Given the description of an element on the screen output the (x, y) to click on. 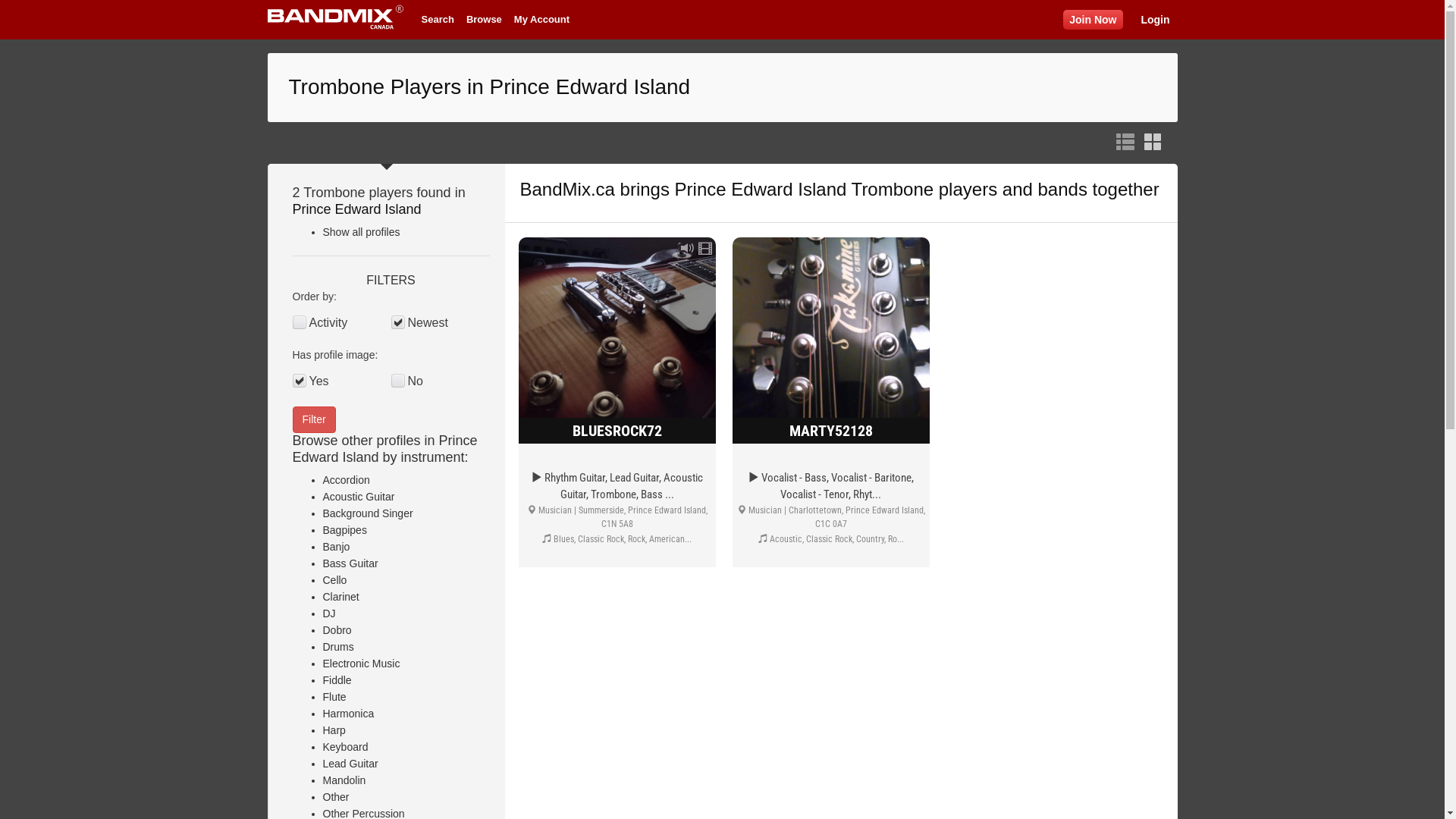
Musicians Wanted | Musician Classifieds | BandMix.ca Element type: hover (334, 19)
Browse Element type: text (484, 19)
Keyboard Element type: text (345, 746)
Filter Element type: text (313, 419)
BandMix.ca Element type: text (567, 188)
Prince Edward Island Element type: text (356, 208)
Lead Guitar Element type: text (350, 763)
Accordion Element type: text (346, 479)
Background Singer Element type: text (368, 513)
Bass Guitar Element type: text (350, 563)
Drums Element type: text (338, 646)
Show all profiles Element type: text (361, 231)
Mandolin Element type: text (344, 780)
Prince Edward Island Trombone players Element type: text (835, 188)
Banjo Element type: text (336, 546)
Acoustic Guitar Element type: text (359, 496)
Dobro Element type: text (337, 630)
Cello Element type: text (335, 580)
My Account Element type: text (541, 19)
Login Element type: text (1154, 19)
Search Element type: text (437, 19)
Join Now Element type: text (1092, 19)
Clarinet Element type: text (341, 596)
Other Element type: text (336, 796)
Harmonica Element type: text (348, 713)
Harp Element type: text (334, 730)
Trombone Players in Prince Edward Island Element type: text (489, 86)
Flute Element type: text (334, 696)
Bagpipes Element type: text (345, 530)
Fiddle Element type: text (337, 680)
Electronic Music Element type: text (361, 663)
DJ Element type: text (329, 613)
